Given the description of an element on the screen output the (x, y) to click on. 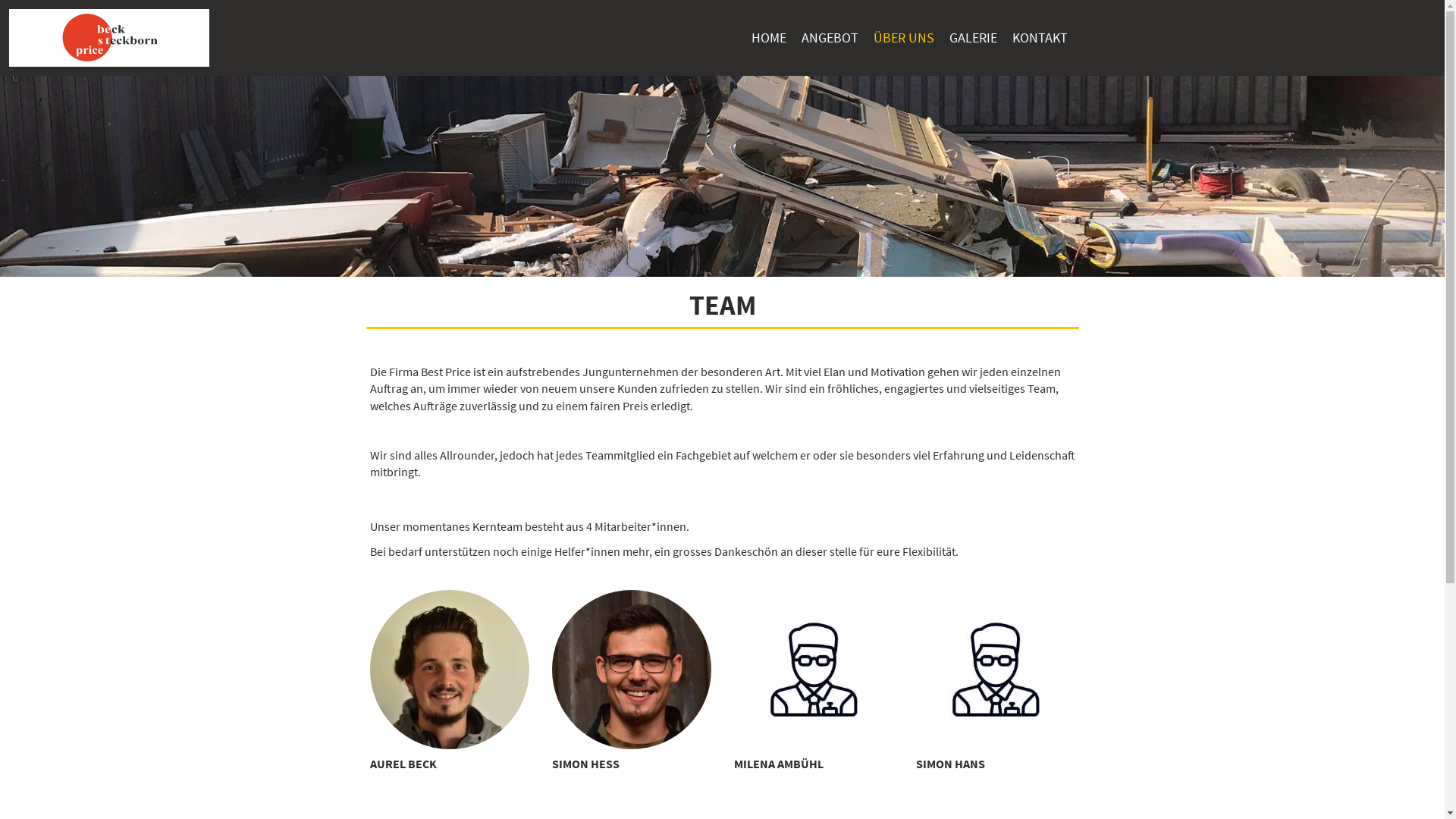
Simon Hess<br/> Element type: hover (631, 669)
Aurel Beck<br/> Element type: hover (449, 669)
KONTAKT Element type: text (1039, 37)
Simon Hans<br/> Element type: hover (995, 669)
ANGEBOT Element type: text (829, 37)
GALERIE Element type: text (972, 37)
HOME Element type: text (768, 37)
